Given the description of an element on the screen output the (x, y) to click on. 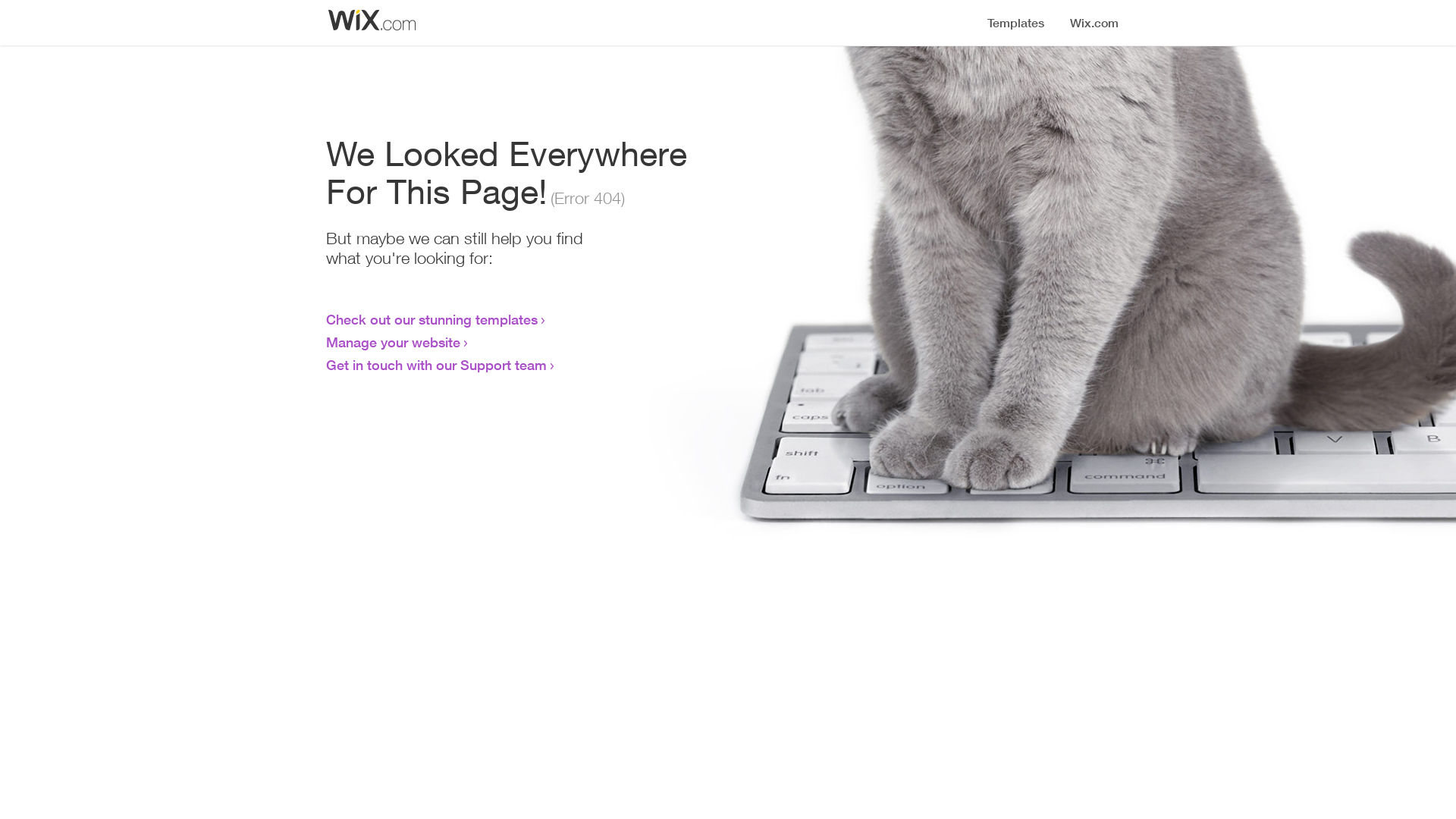
Get in touch with our Support team Element type: text (436, 364)
Manage your website Element type: text (393, 341)
Check out our stunning templates Element type: text (431, 318)
